Given the description of an element on the screen output the (x, y) to click on. 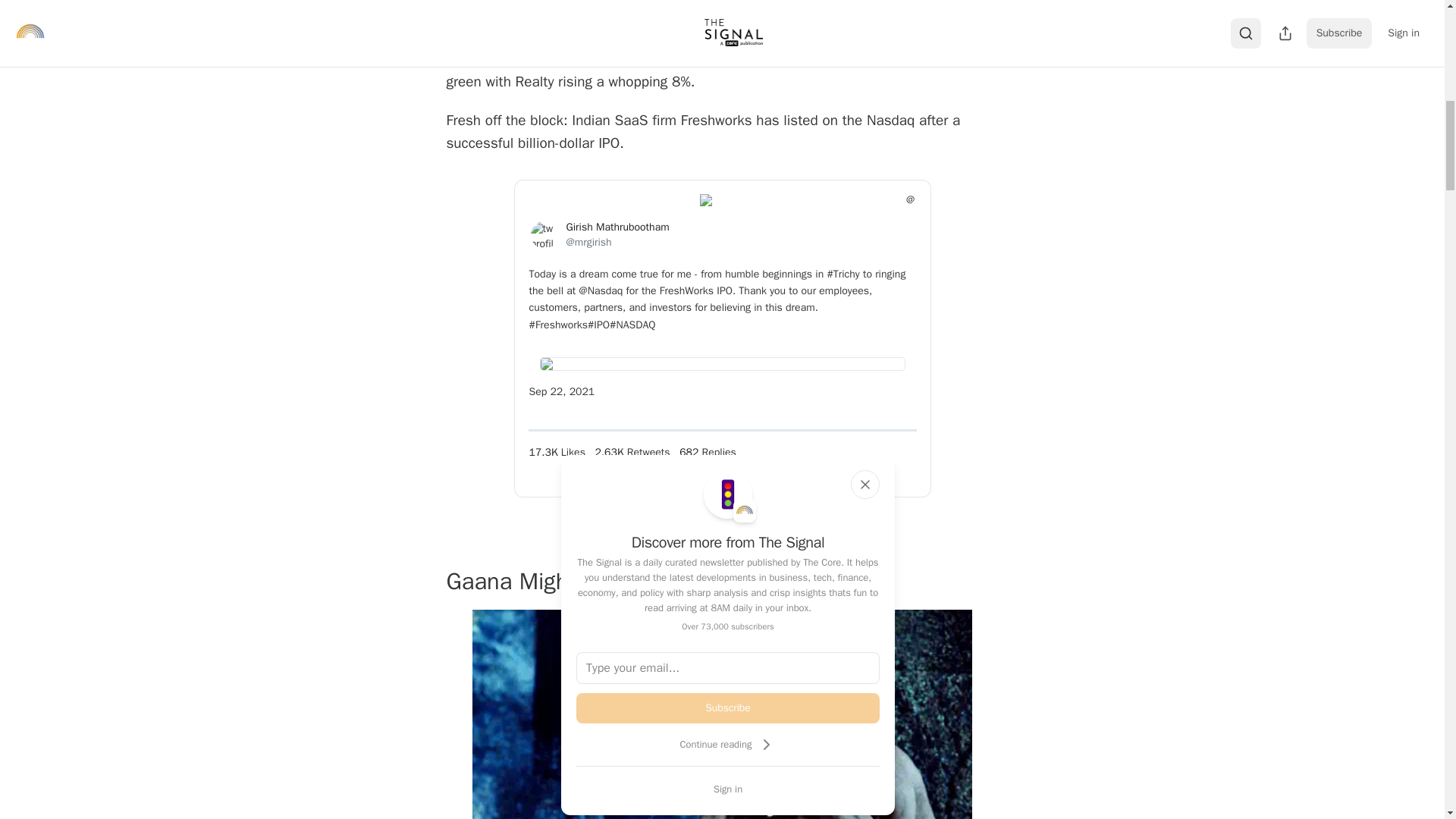
Subscribe (727, 707)
Sign in (727, 788)
